Given the description of an element on the screen output the (x, y) to click on. 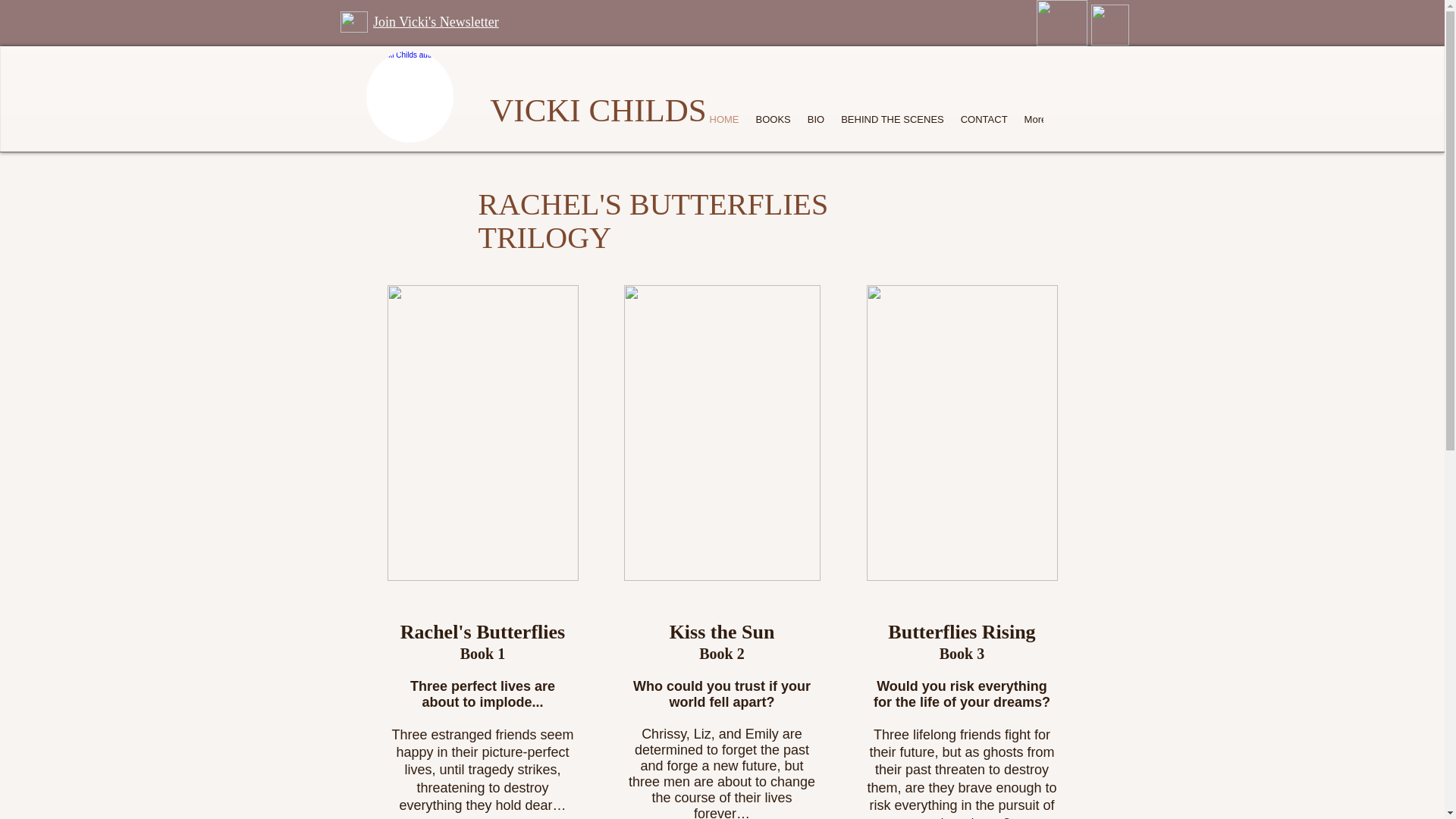
HOME (723, 124)
CONTACT (984, 124)
Join Vicki's Newsletter (435, 21)
BIO (815, 124)
Read More (854, 155)
BEHIND THE SCENES (892, 124)
